Given the description of an element on the screen output the (x, y) to click on. 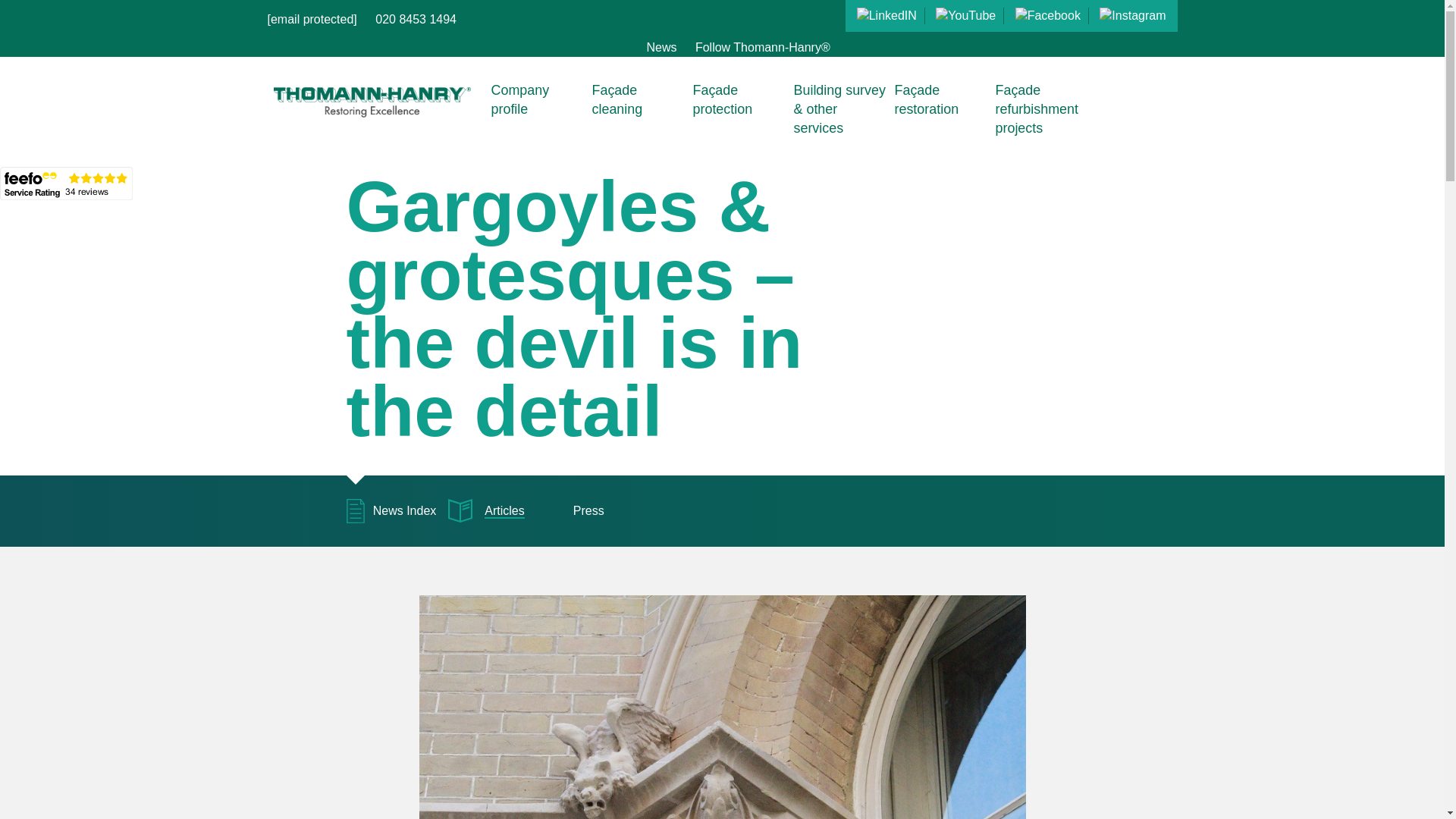
Company profile (537, 99)
020 8453 1494 (416, 19)
News (661, 47)
See what our customers say about us (66, 183)
